Given the description of an element on the screen output the (x, y) to click on. 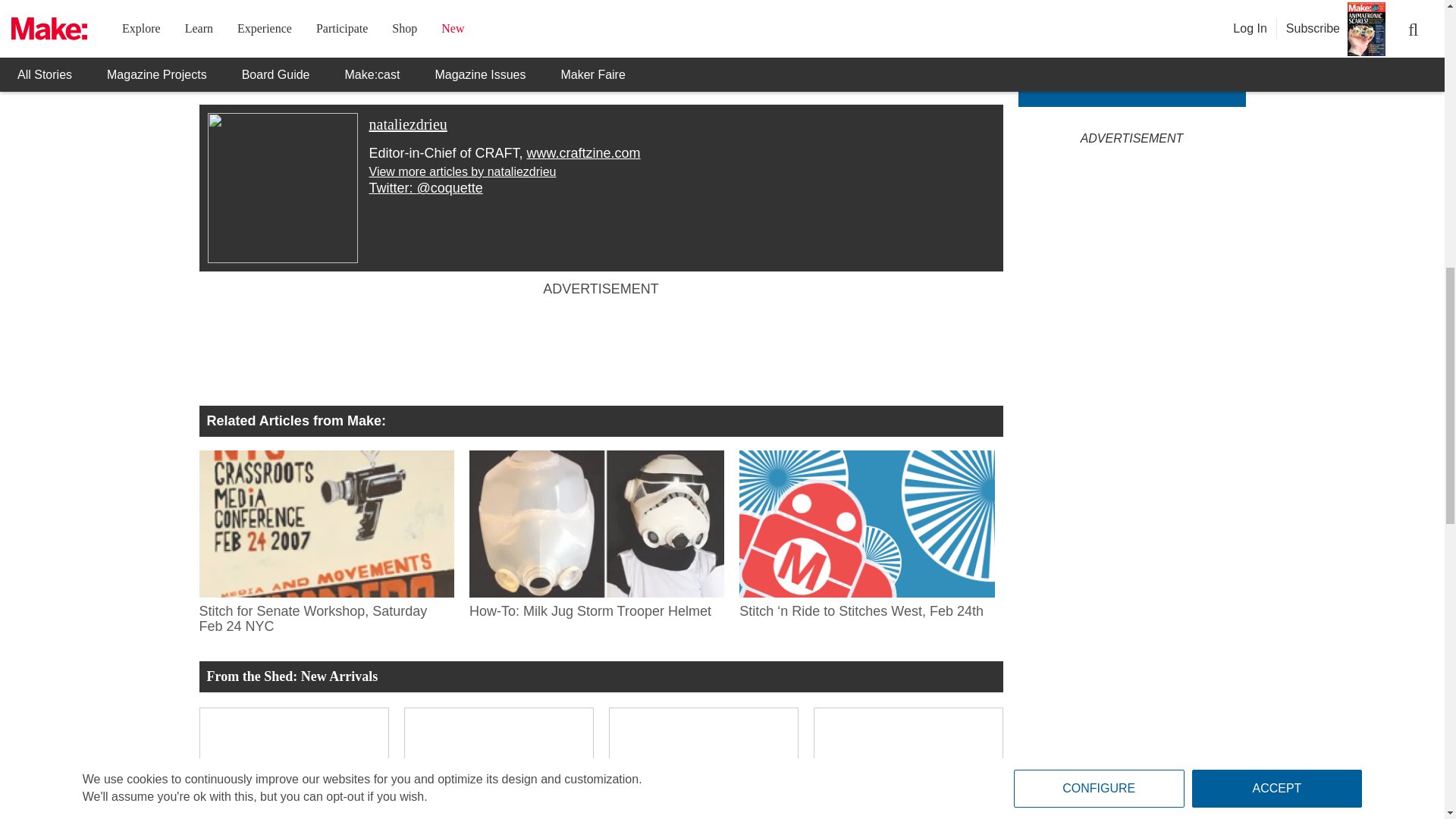
How-To: Milk Jug Storm Trooper Helmet (595, 523)
Stitch for Senate Workshop, Saturday Feb 24 NYC (325, 523)
Stitch for Senate Workshop, Saturday Feb 24 NYC (325, 615)
3rd party ad content (600, 346)
How-To: Milk Jug Storm Trooper Helmet (595, 608)
